Given the description of an element on the screen output the (x, y) to click on. 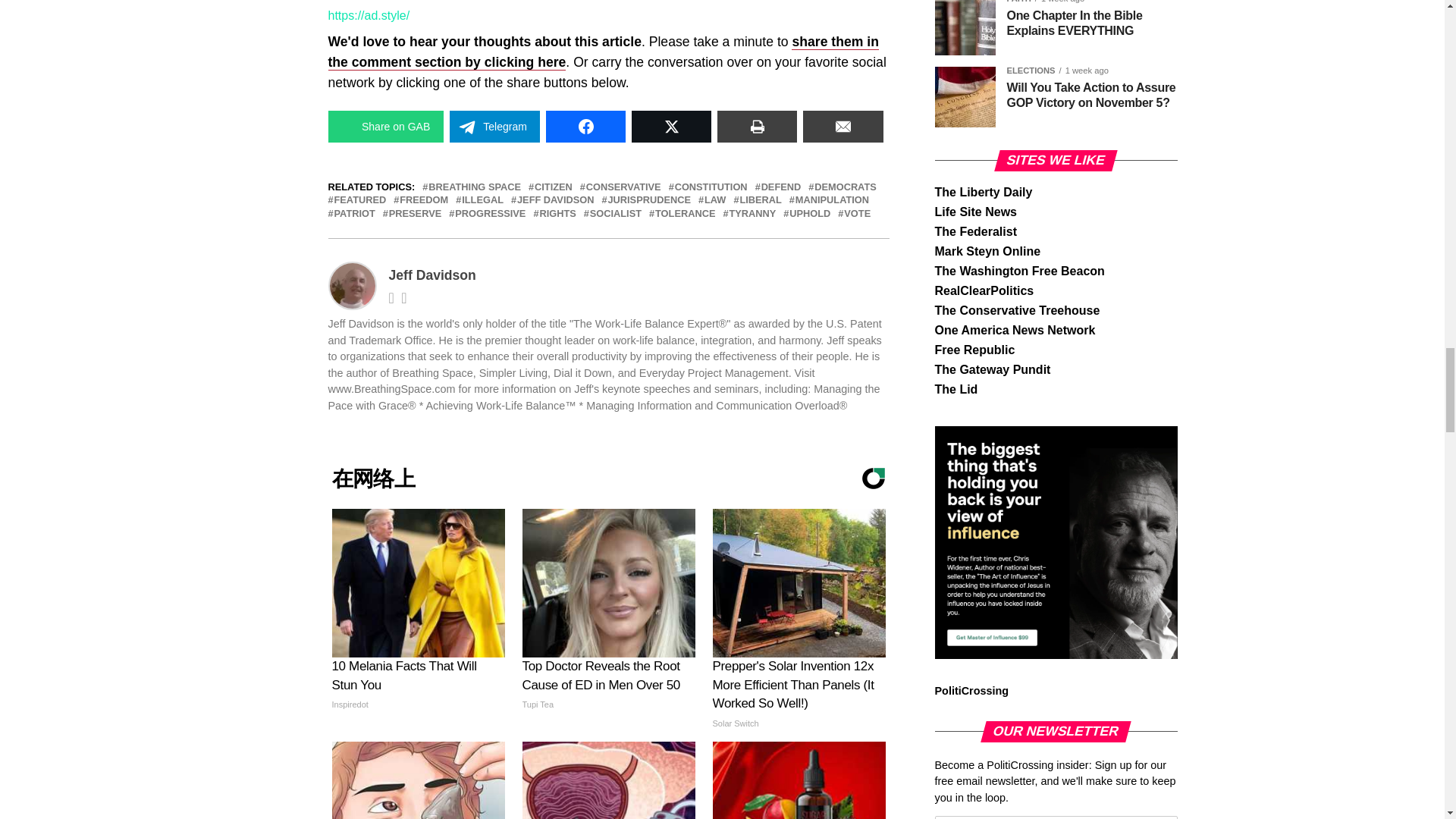
Share on Share on GAB (384, 126)
Share on Telegram (494, 126)
